Given the description of an element on the screen output the (x, y) to click on. 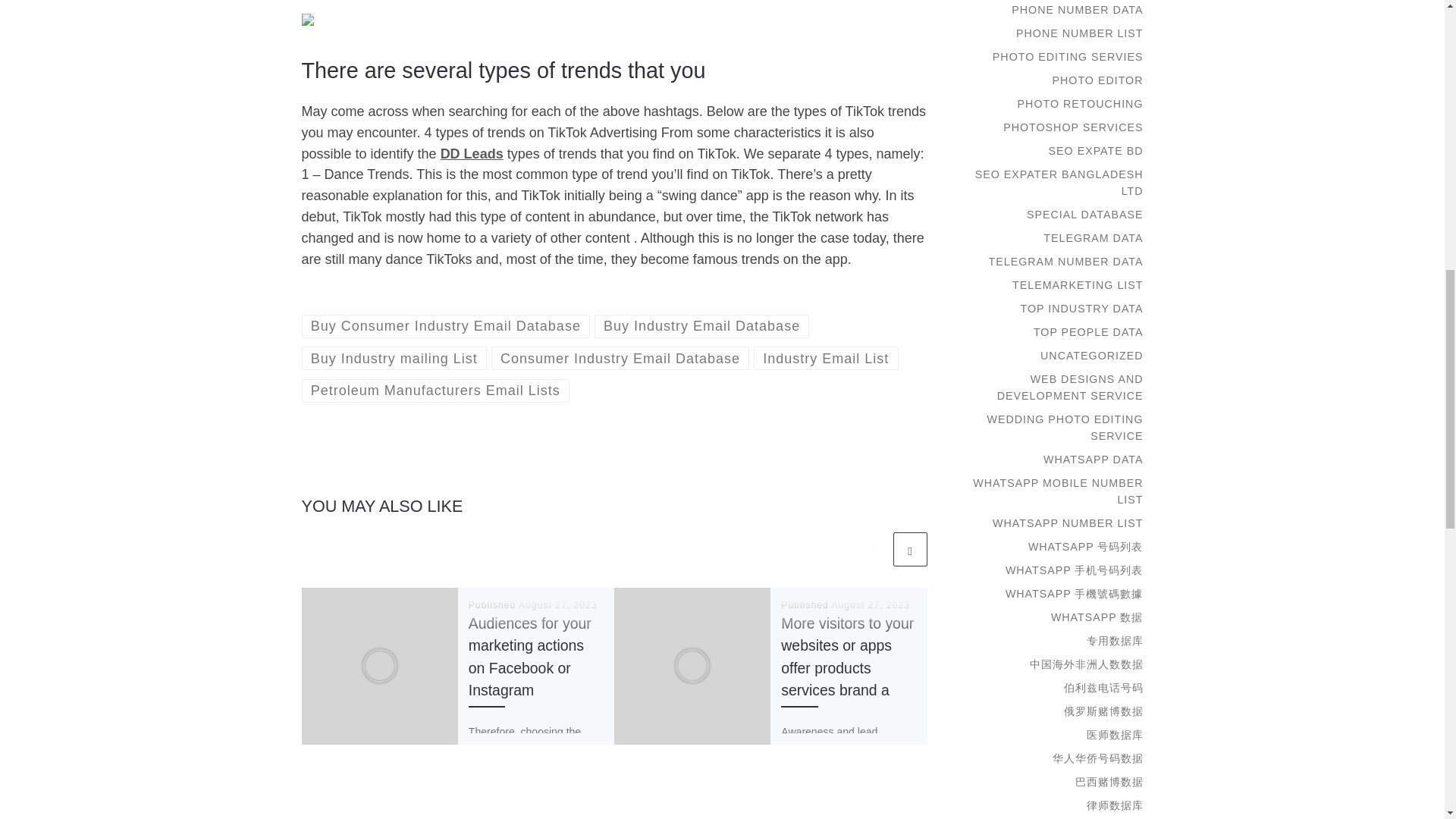
Consumer Industry Email Database (620, 358)
August 27, 2023 (557, 604)
August 27, 2023 (870, 604)
DD Leads (472, 153)
Previous related articles (872, 549)
View all posts in Buy Consumer Industry Email Database (446, 326)
View all posts in Petroleum Manufacturers Email Lists (435, 390)
Industry Email List (826, 358)
Buy Consumer Industry Email Database (446, 326)
